Given the description of an element on the screen output the (x, y) to click on. 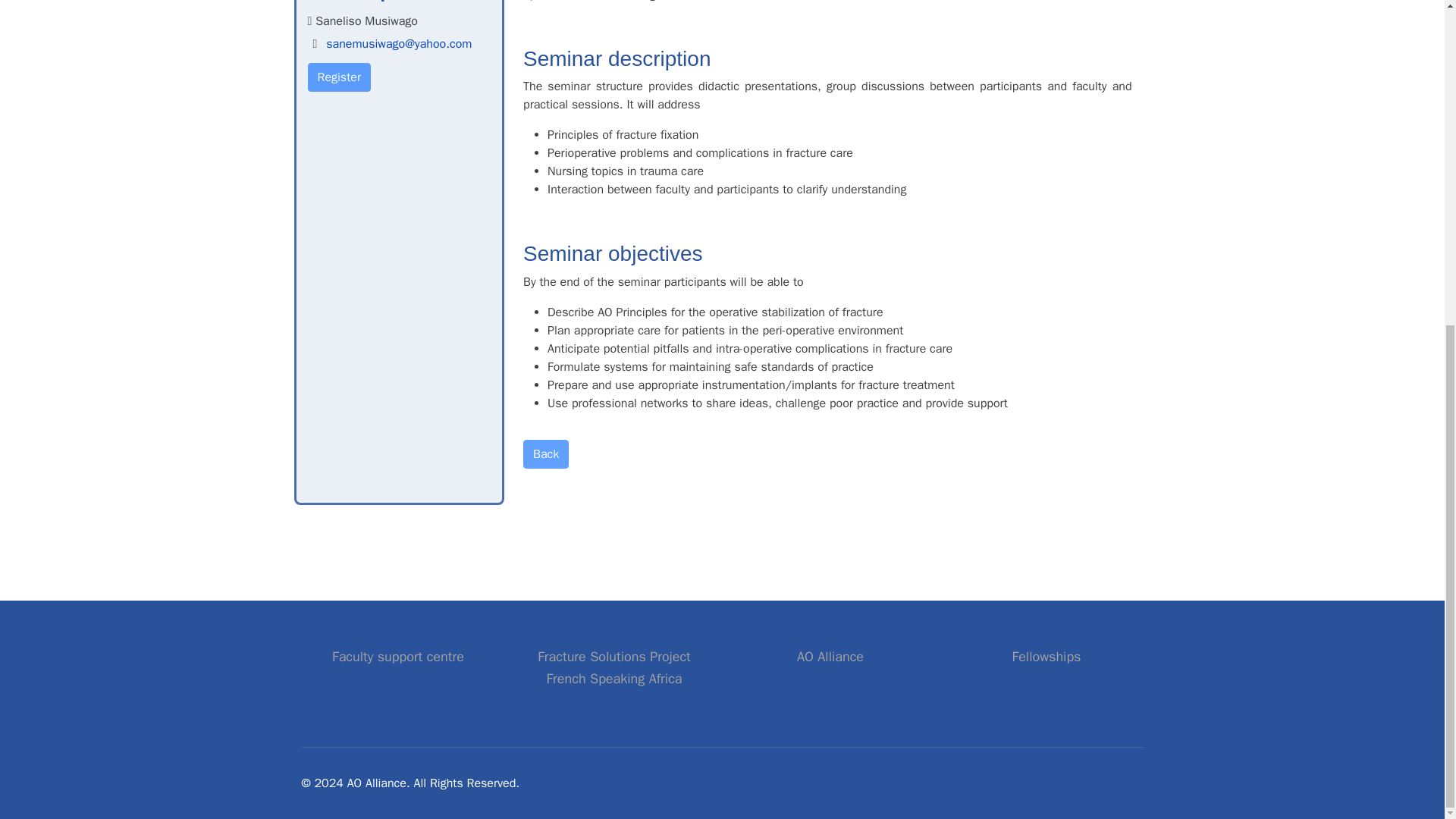
Back (613, 667)
Faculty support centre (545, 453)
Register (397, 656)
Fellowships (339, 77)
Fracture Solutions Project French Speaking Africa (1046, 656)
AO Alliance (613, 667)
Fellowships (829, 656)
AO Alliance (1046, 656)
